Given the description of an element on the screen output the (x, y) to click on. 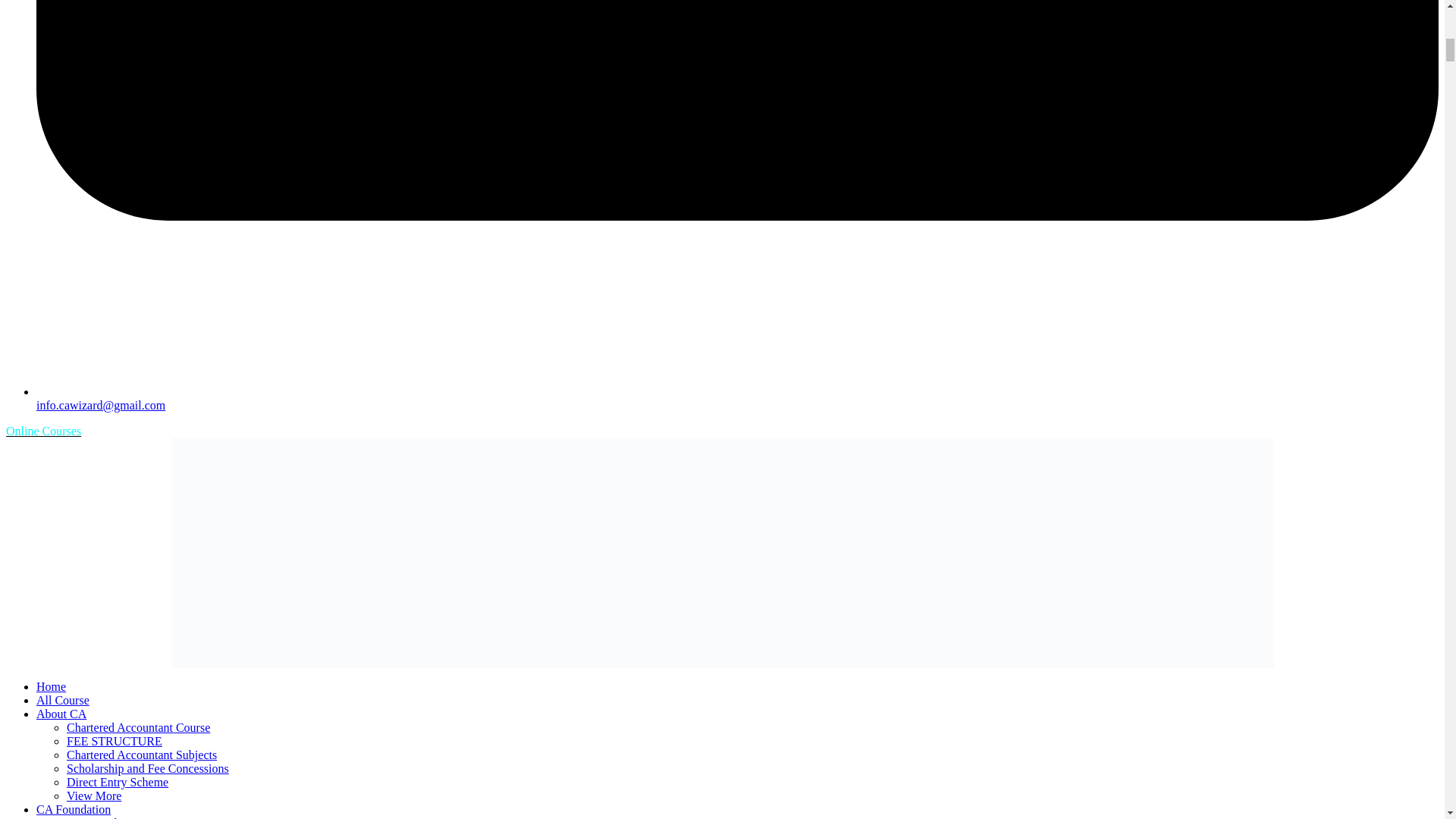
About CA (60, 713)
All Course (62, 699)
FEE STRUCTURE (113, 740)
View More (93, 795)
Online Courses (43, 431)
Chartered Accountant Subjects (141, 754)
Chartered Accountant Course (137, 727)
Scholarship and Fee Concessions (147, 768)
Direct Entry Scheme (117, 781)
Home (50, 686)
